Given the description of an element on the screen output the (x, y) to click on. 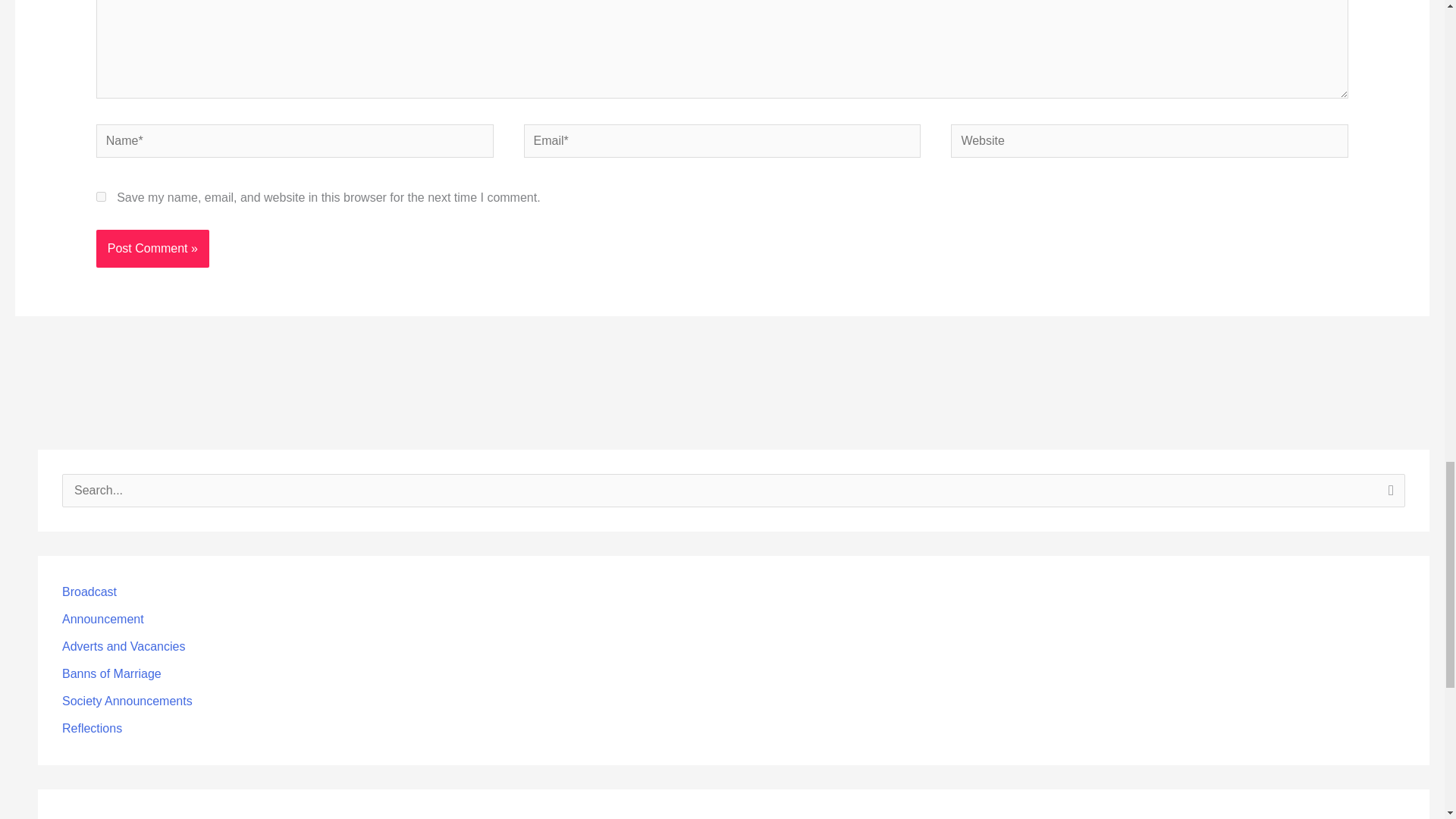
Society Announcements (127, 700)
yes (101, 196)
Broadcast (89, 591)
Banns of Marriage (111, 673)
Reflections (92, 727)
Announcement (103, 618)
Adverts and Vacancies (123, 645)
